Given the description of an element on the screen output the (x, y) to click on. 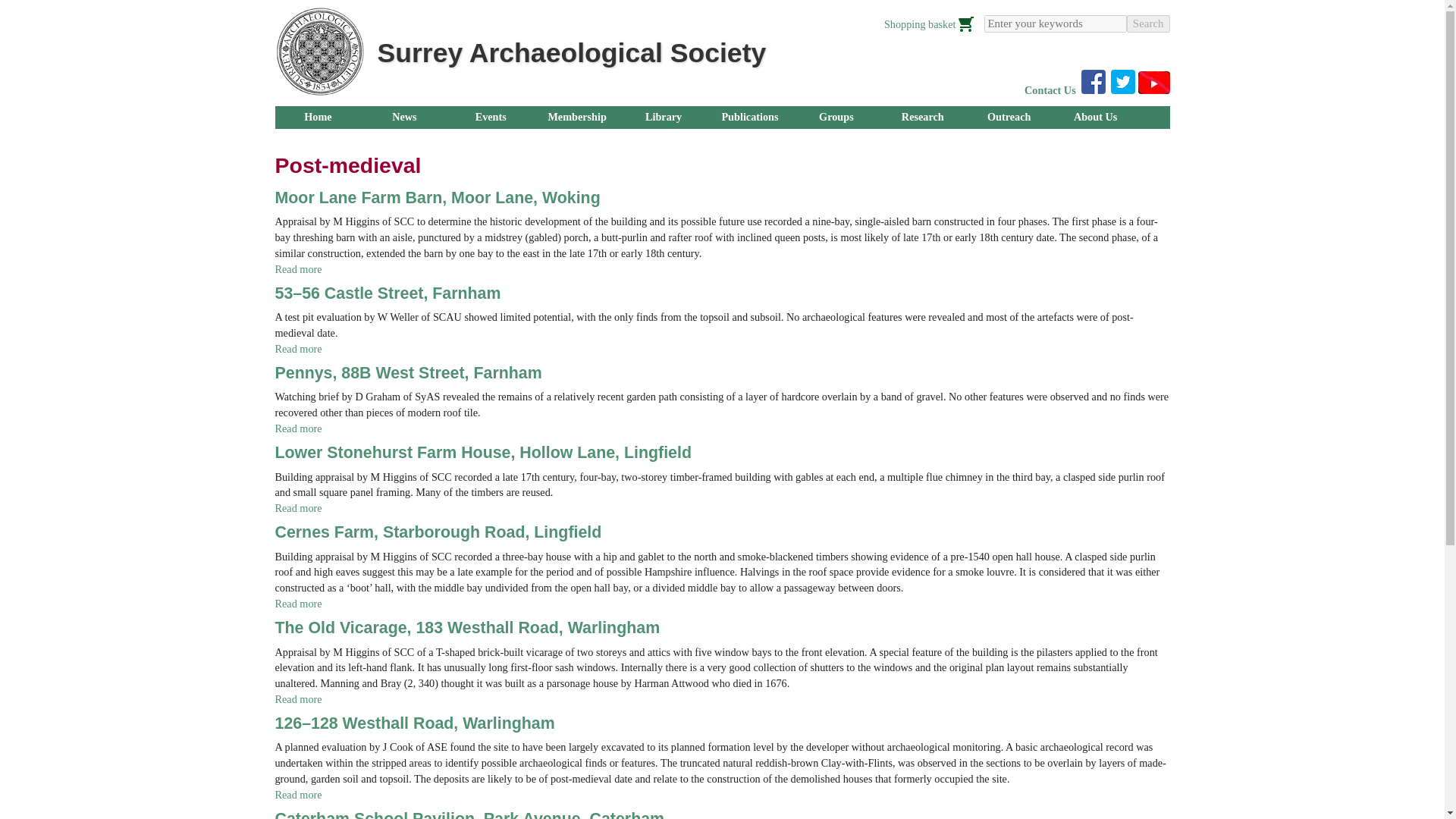
News (403, 117)
Twitter (1122, 81)
Home (318, 117)
Membership (577, 117)
Search (1148, 23)
Search (1148, 23)
Facebook (1093, 81)
Surrey Archaeological Society (572, 52)
Contact Us (1050, 90)
Home (318, 51)
